Given the description of an element on the screen output the (x, y) to click on. 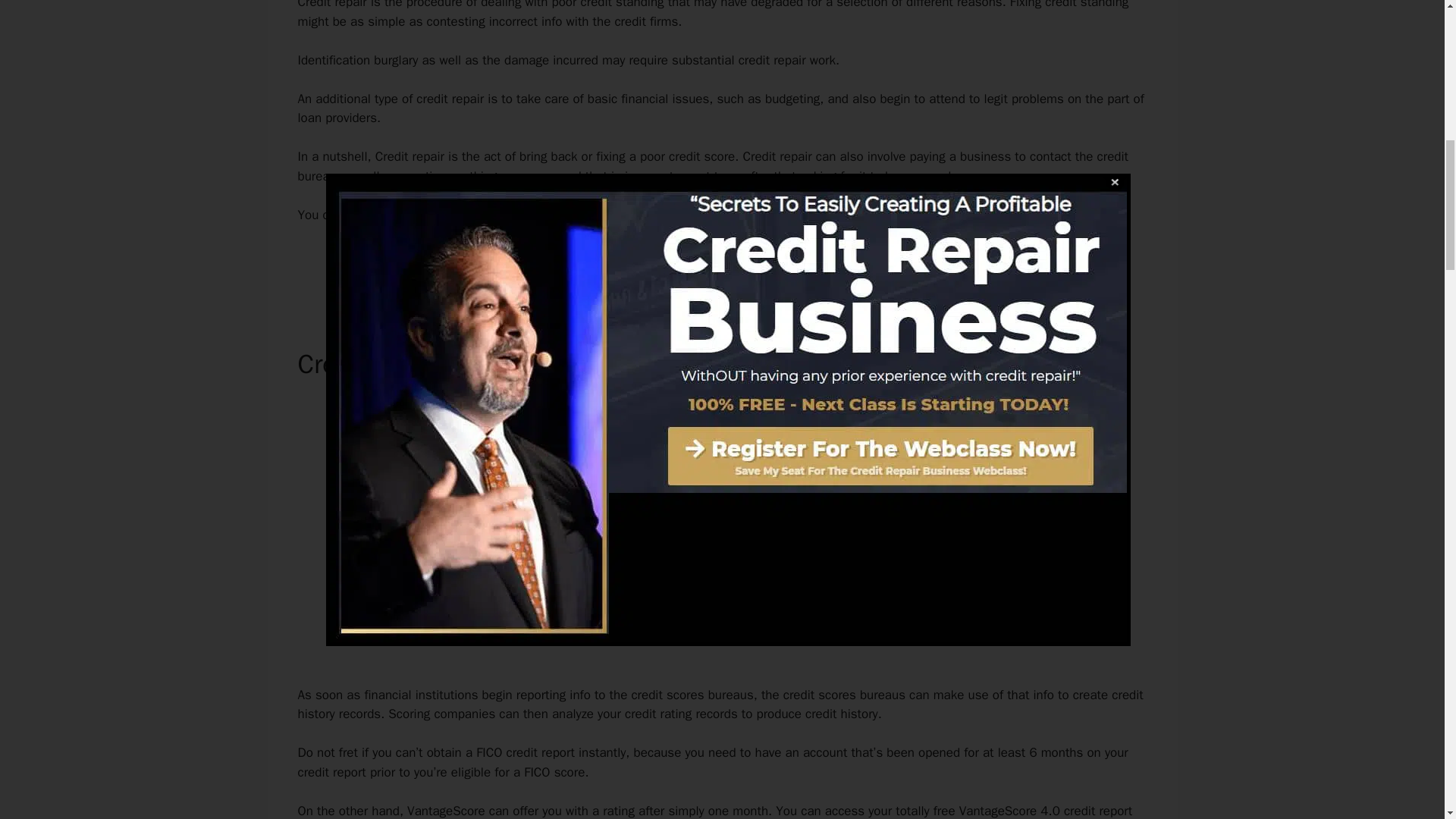
Go Here To Discover More (721, 267)
Scroll back to top (1406, 720)
